Given the description of an element on the screen output the (x, y) to click on. 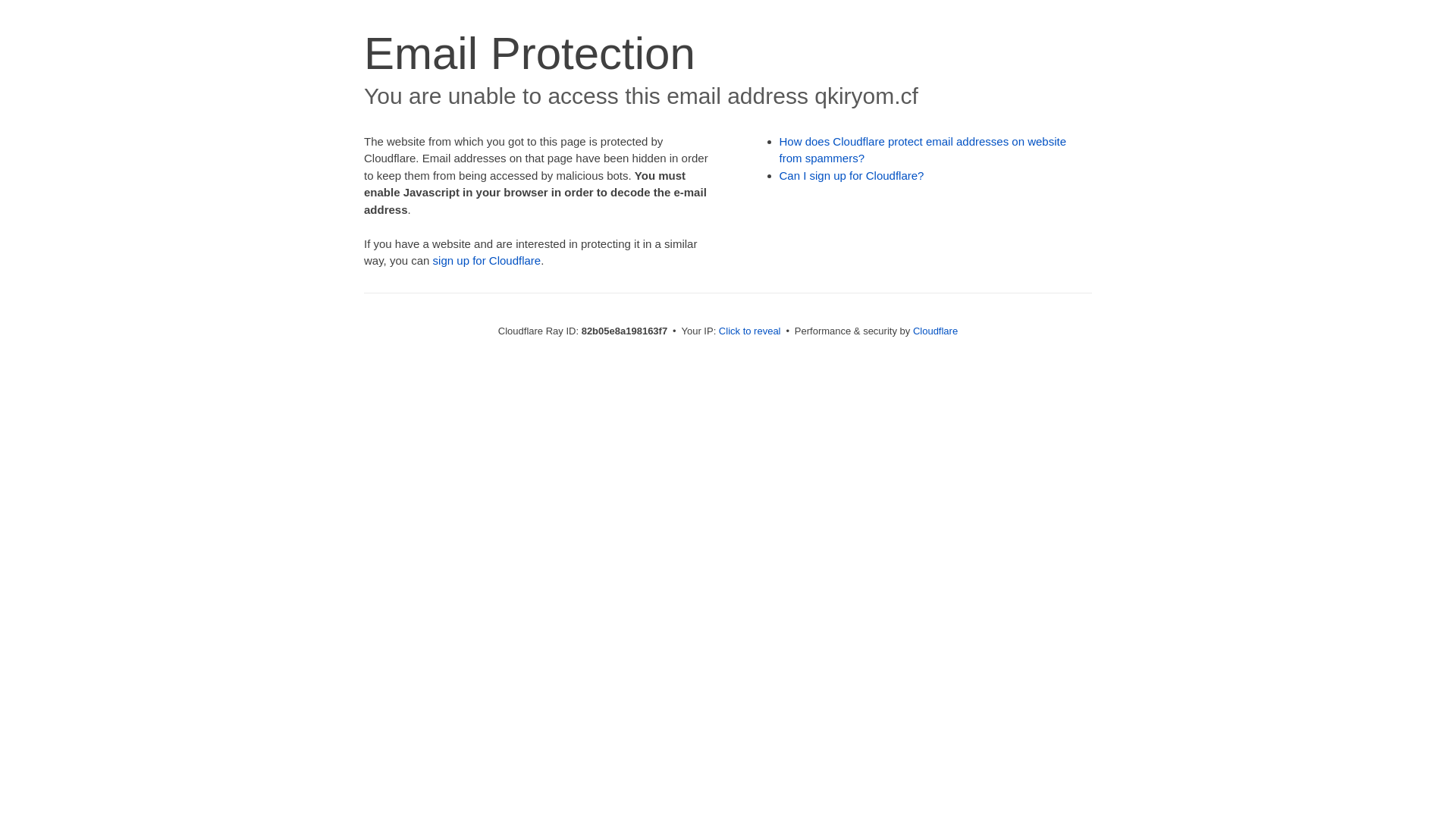
Can I sign up for Cloudflare? Element type: text (851, 175)
Click to reveal Element type: text (749, 330)
sign up for Cloudflare Element type: text (487, 260)
Cloudflare Element type: text (935, 330)
